Given the description of an element on the screen output the (x, y) to click on. 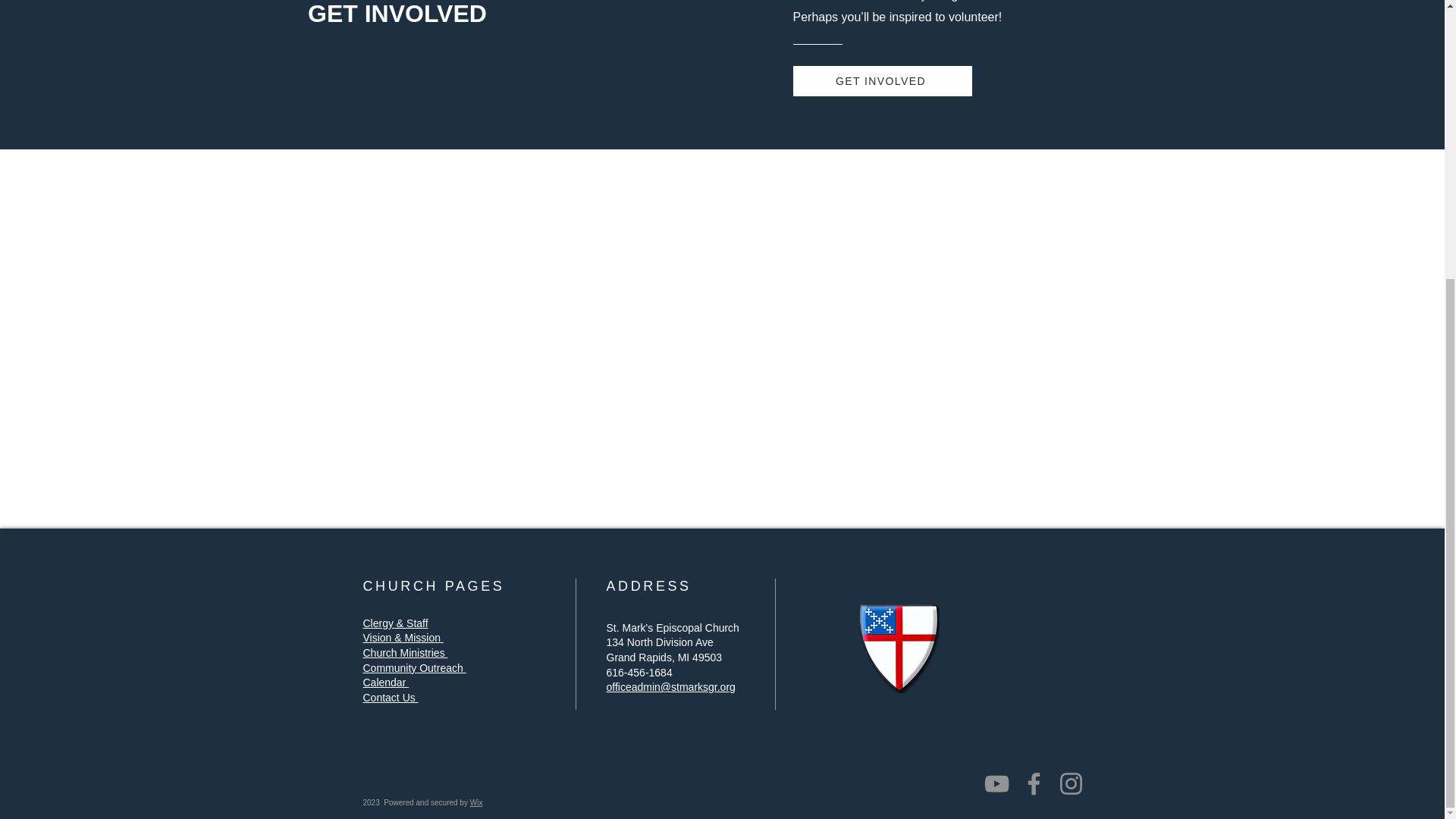
Community Outreach  (413, 667)
Calendar  (385, 682)
Contact Us  (389, 697)
GET INVOLVED (882, 81)
Church Ministries  (404, 653)
Wix (476, 802)
Episcopal shield 02.png (899, 647)
